Given the description of an element on the screen output the (x, y) to click on. 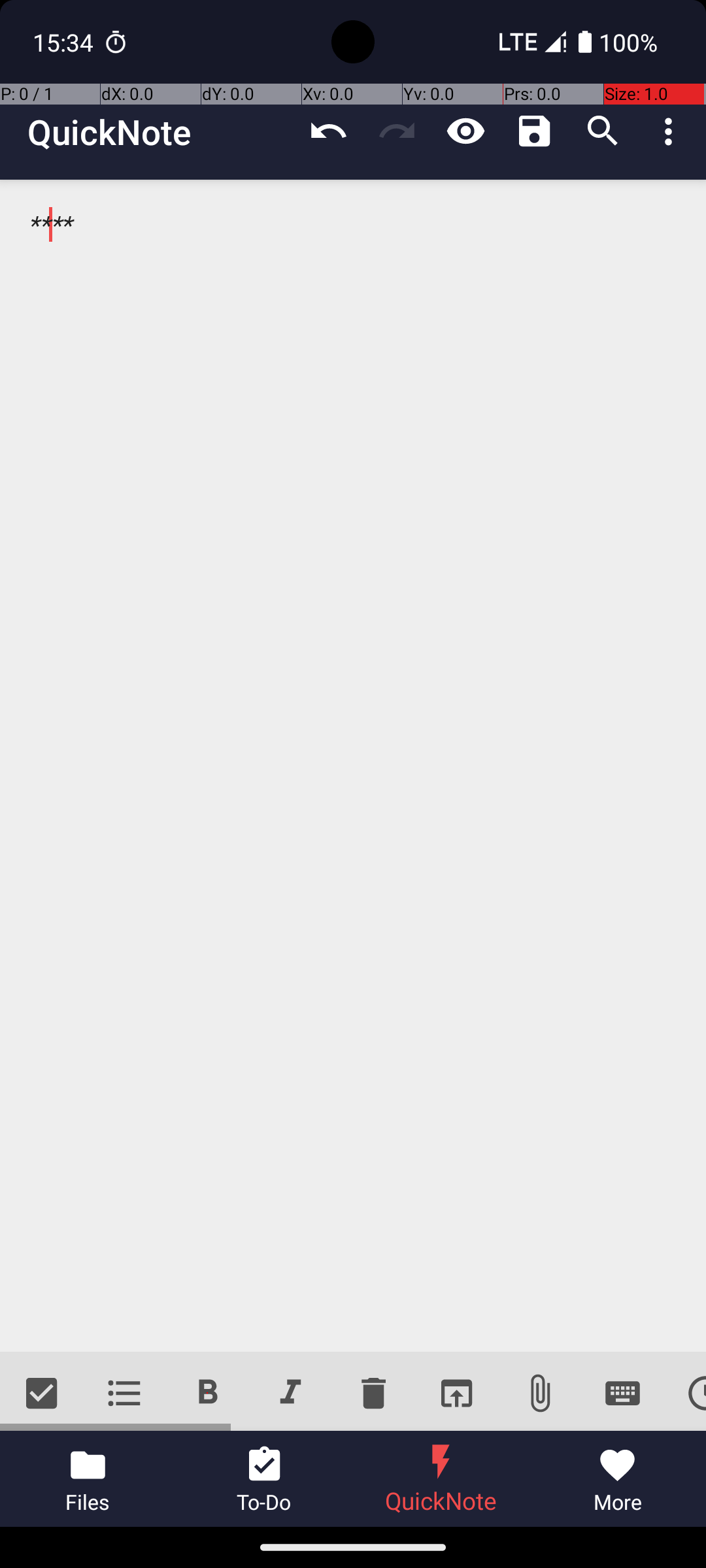
**** Element type: android.widget.EditText (353, 765)
